Given the description of an element on the screen output the (x, y) to click on. 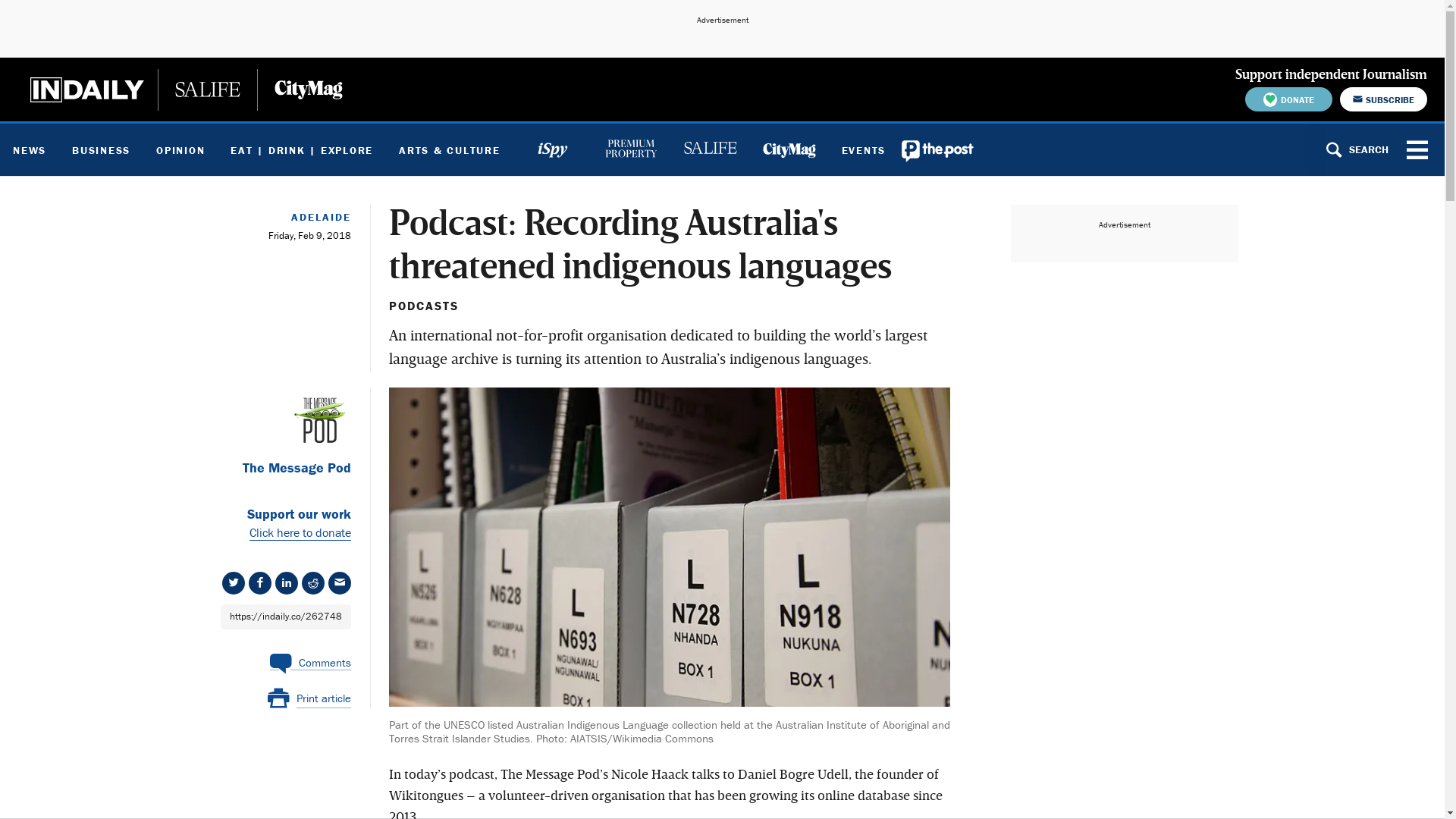
ARTS & CULTURE Element type: text (449, 149)
Comments Element type: text (310, 658)
NEWS Element type: text (29, 149)
BUSINESS Element type: text (101, 149)
DONATE Element type: text (1288, 99)
PODCASTS Element type: text (423, 305)
PREMIUM PROPERTY Element type: text (630, 149)
The Message Pod Element type: text (278, 468)
SUBSCRIBE Element type: text (1383, 99)
EAT | DRINK | EXPLORE Element type: text (301, 149)
THE POST Element type: text (937, 149)
CITYMAG Element type: text (788, 149)
EVENTS Element type: text (863, 149)
ISPY Element type: text (551, 149)
Click here to donate Element type: text (299, 532)
Print article Element type: text (309, 698)
SALIFE Element type: text (709, 149)
OPINION Element type: text (180, 149)
